Given the description of an element on the screen output the (x, y) to click on. 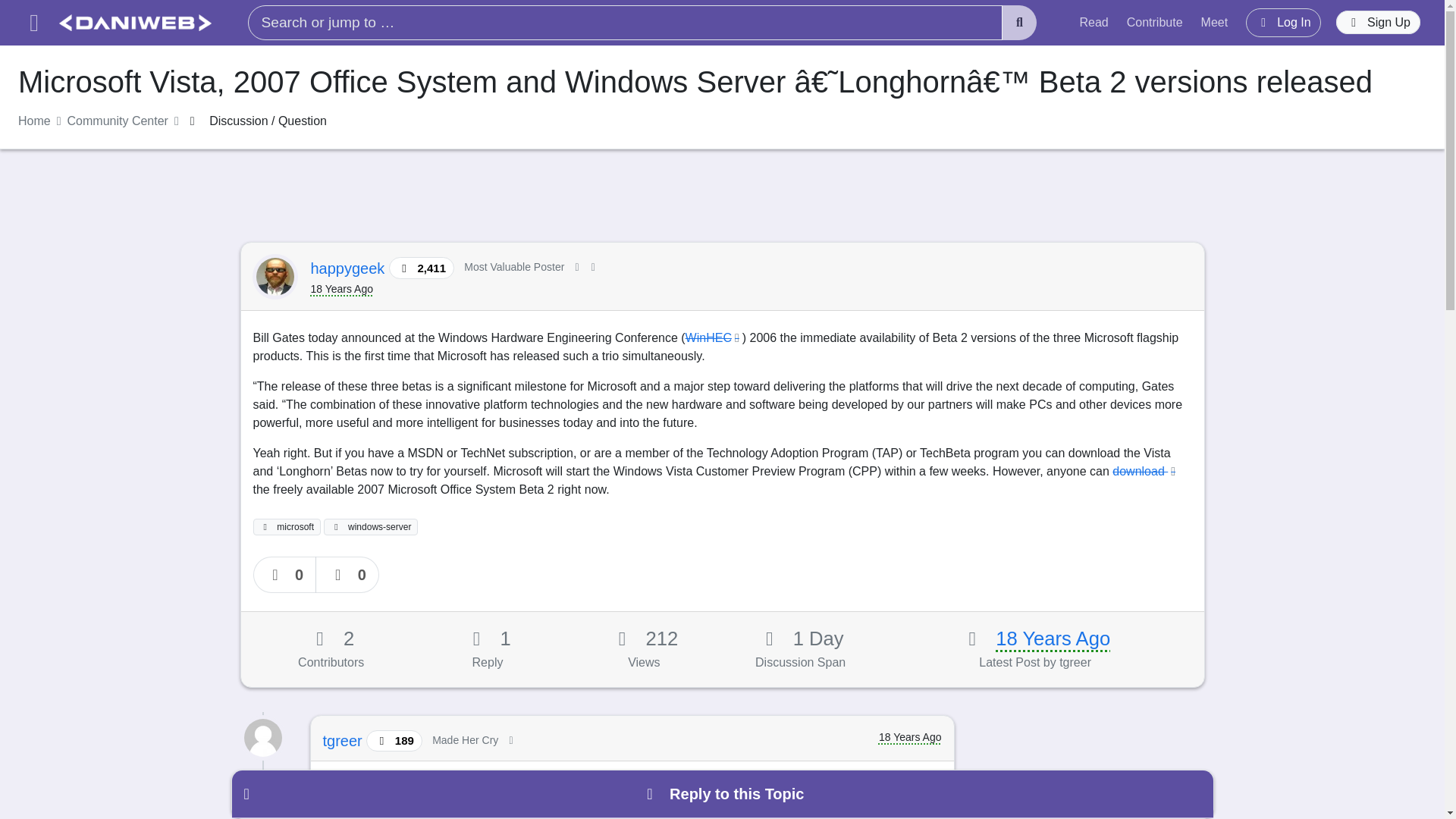
WinHEC (713, 337)
0 (285, 574)
download (1144, 471)
Menu (33, 22)
Log In (1283, 22)
DaniWeb (135, 22)
18 Years Ago (1052, 638)
windows-server (370, 526)
Read (1093, 22)
Search (1018, 22)
